Given the description of an element on the screen output the (x, y) to click on. 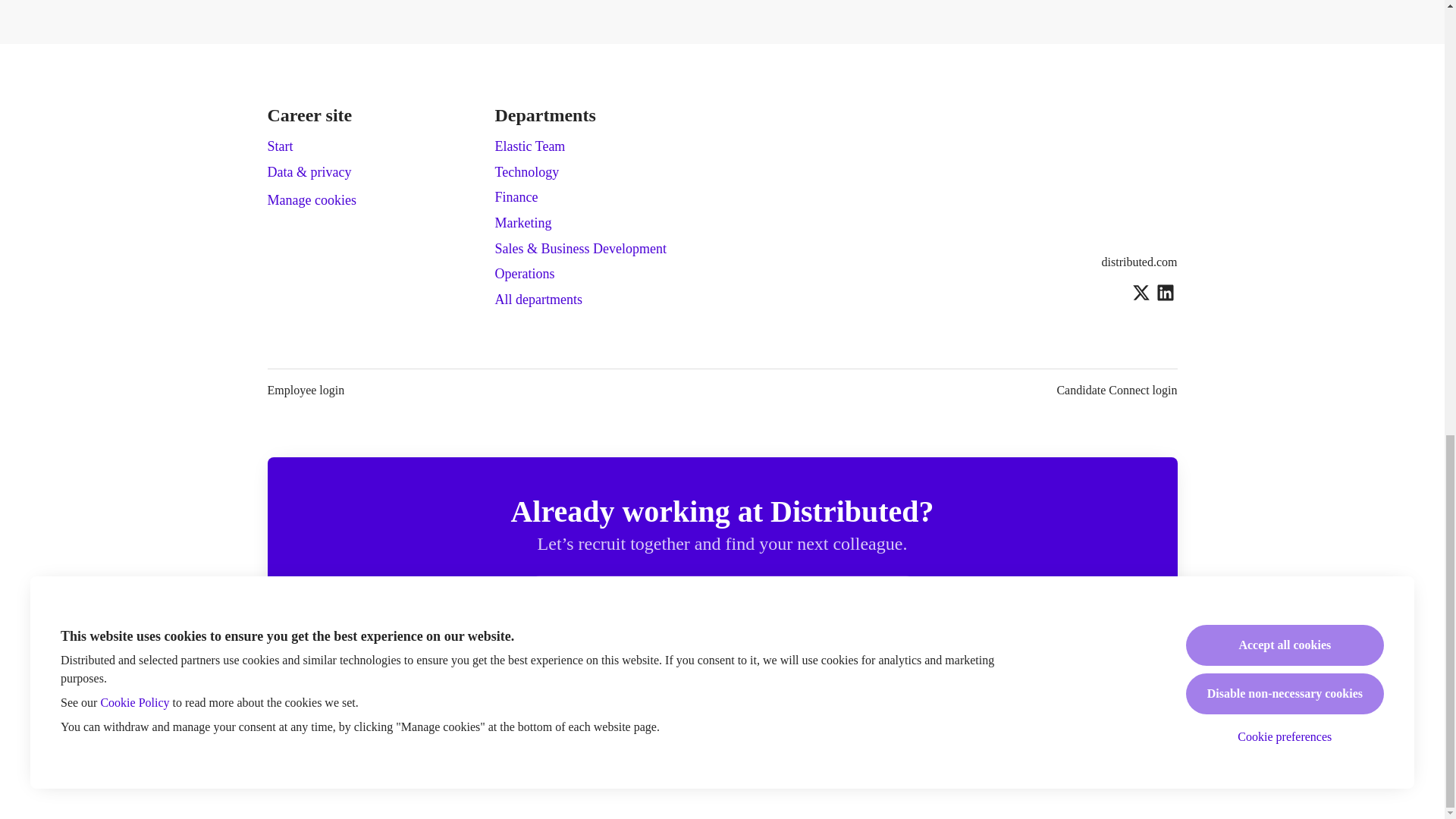
Elastic Team (529, 146)
Marketing (523, 222)
Tofunmi Babatunde (721, 676)
Log in (887, 598)
Employee login (304, 390)
Candidate Connect login (1116, 390)
Start (279, 146)
Career site by Teamtailor (722, 760)
Hau Voong (796, 676)
distributed.com (1139, 262)
Kim van Oudshoorn (944, 676)
All departments (537, 299)
Finance (516, 197)
Technology (527, 171)
Manage cookies (310, 200)
